Given the description of an element on the screen output the (x, y) to click on. 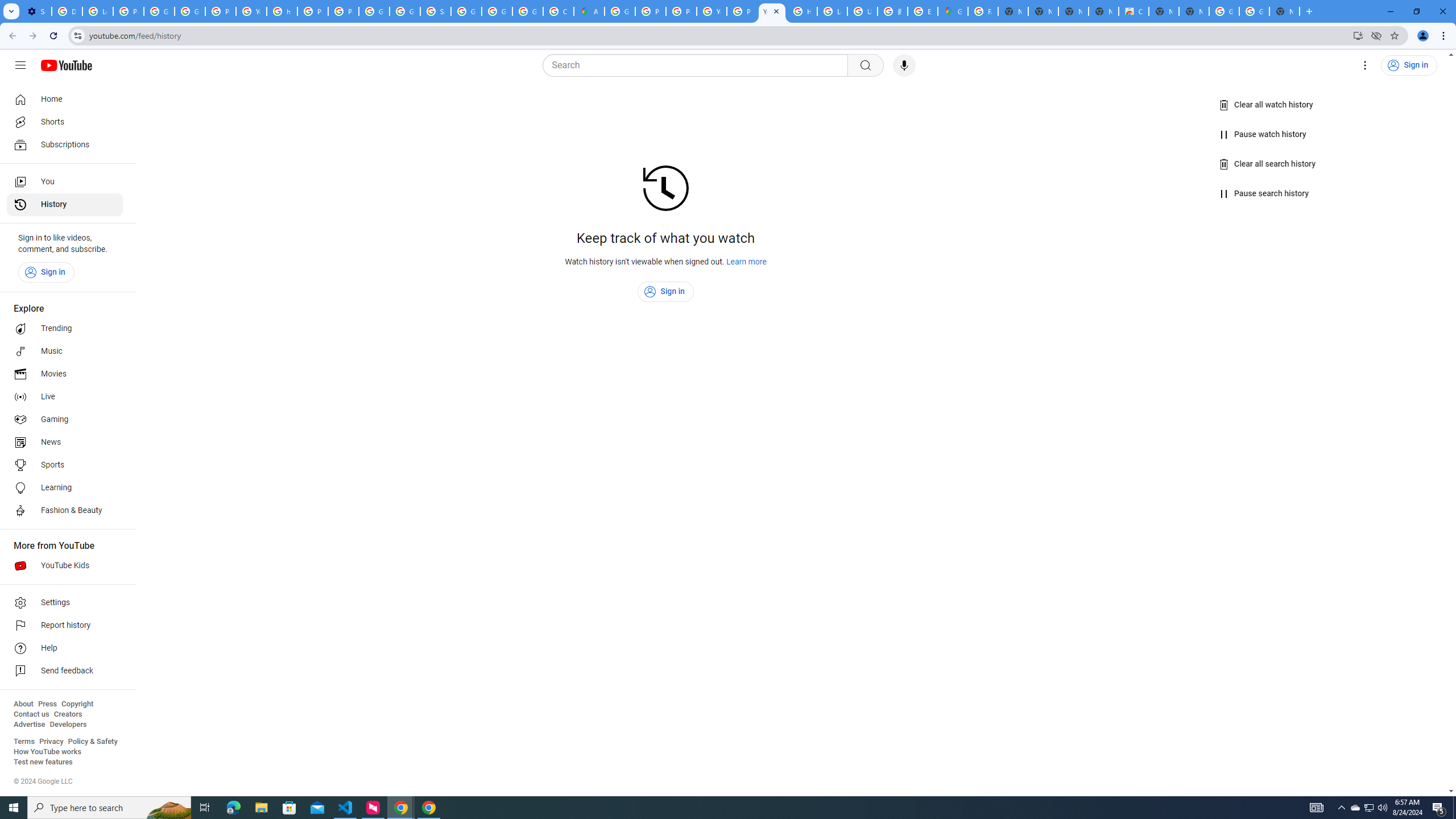
Search with your voice (903, 65)
Test new features (42, 761)
Shorts (64, 121)
News (64, 441)
Privacy Help Center - Policies Help (681, 11)
Search (697, 65)
How Chrome protects your passwords - Google Chrome Help (801, 11)
YouTube Kids (64, 565)
Gaming (64, 419)
